Given the description of an element on the screen output the (x, y) to click on. 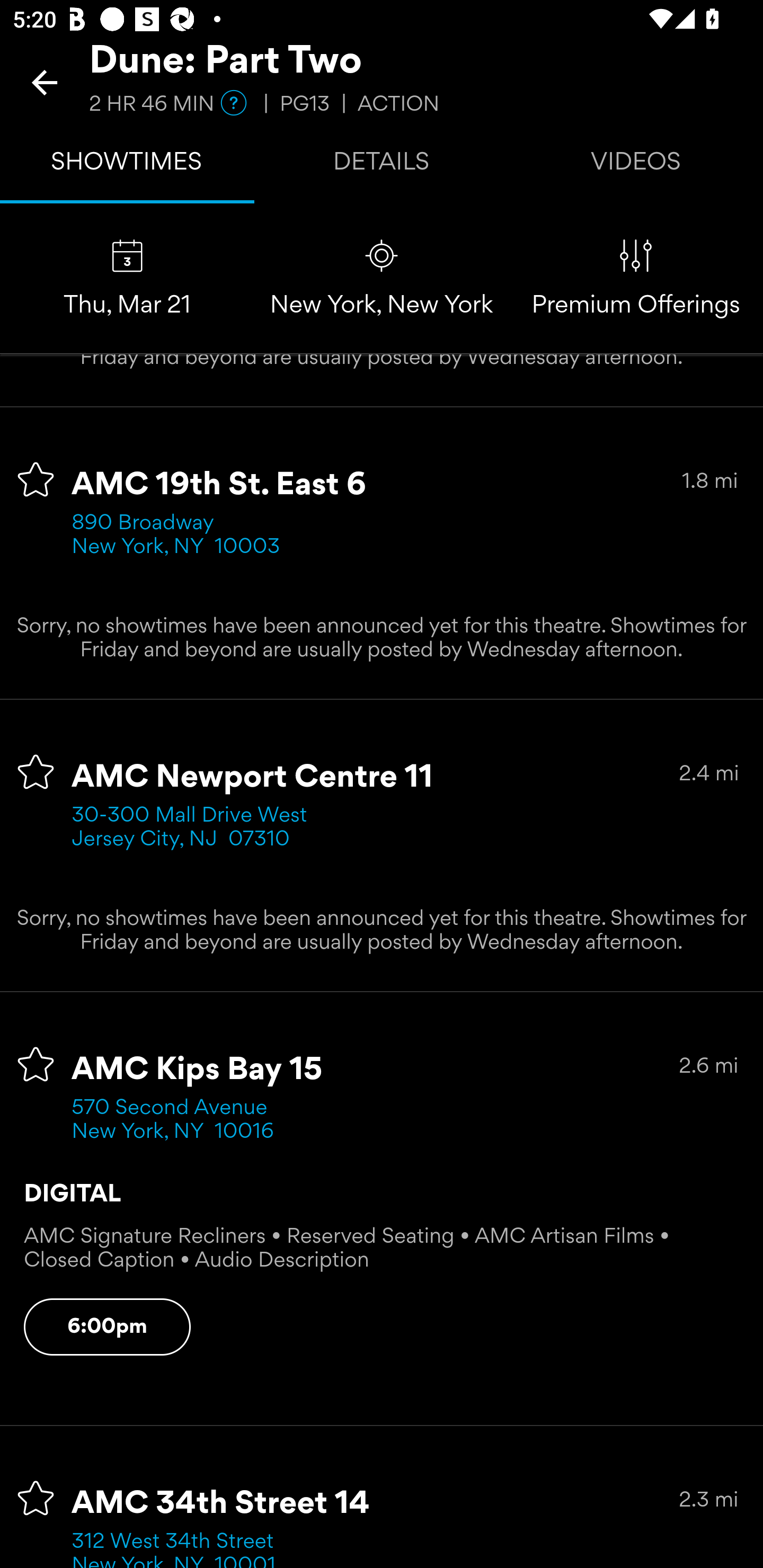
Back (44, 82)
SHOWTIMES
Tab 1 of 3 (127, 165)
DETAILS
Tab 2 of 3 (381, 165)
VIDEOS
Tab 3 of 3 (635, 165)
Change selected day
Thu, Mar 21 (127, 279)
Change location
New York, New York (381, 279)
Premium Offerings
Premium Offerings (635, 279)
AMC 19th St. East 6 (219, 485)
890 Broadway  
New York, NY  10003 (176, 535)
AMC Newport Centre 11 (252, 777)
30-300 Mall Drive West  
Jersey City, NJ  07310 (195, 827)
AMC Kips Bay 15 (196, 1070)
570 Second Avenue  
New York, NY  10016 (175, 1120)
AMC Kips Bay 15 DIGITAL 6:00pm Showtime Button (106, 1326)
AMC 34th Street 14 (220, 1504)
312 West 34th Street  
New York, NY  10001 (178, 1549)
